Given the description of an element on the screen output the (x, y) to click on. 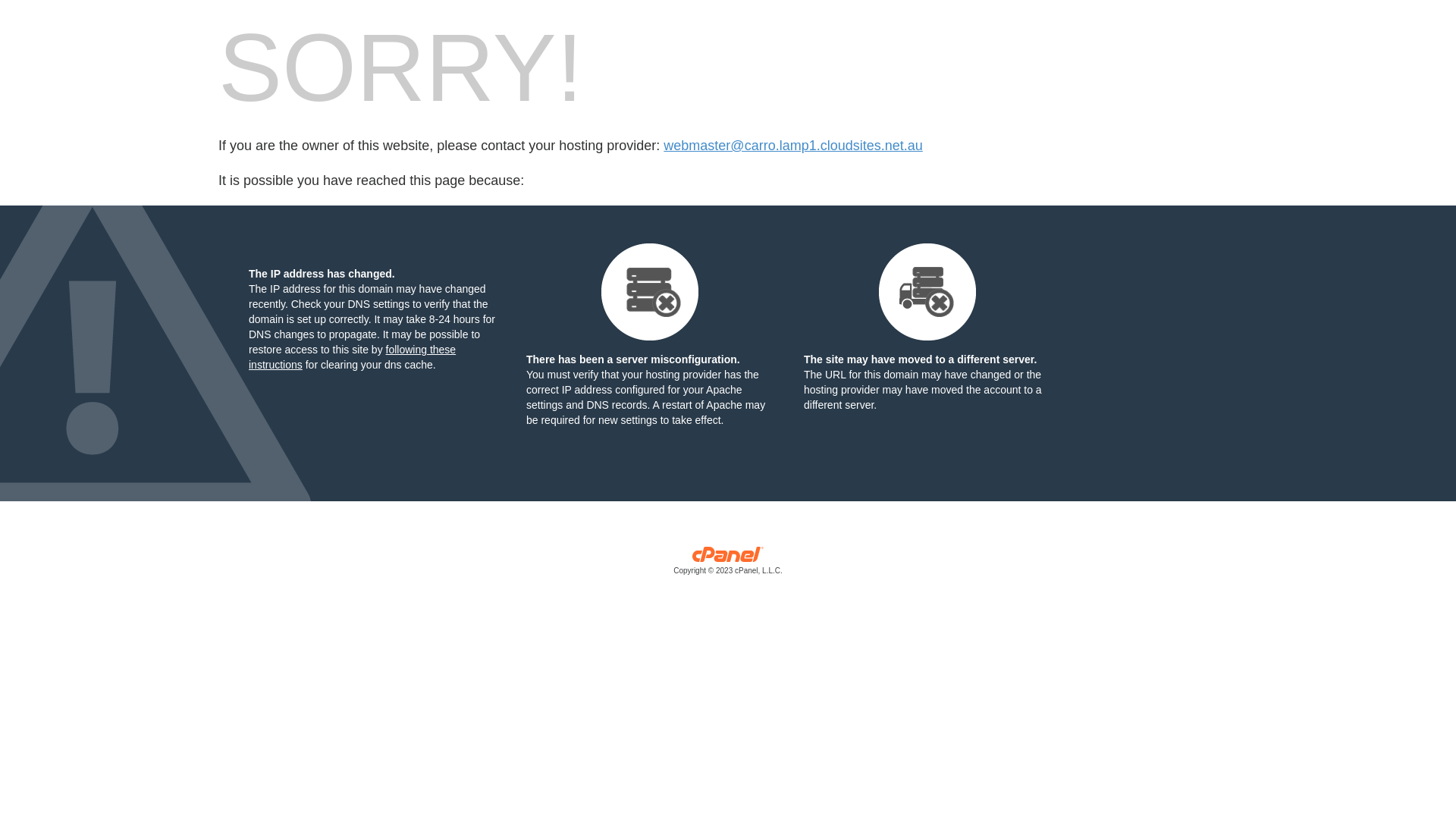
webmaster@carro.lamp1.cloudsites.net.au Element type: text (792, 145)
following these instructions Element type: text (351, 356)
